Given the description of an element on the screen output the (x, y) to click on. 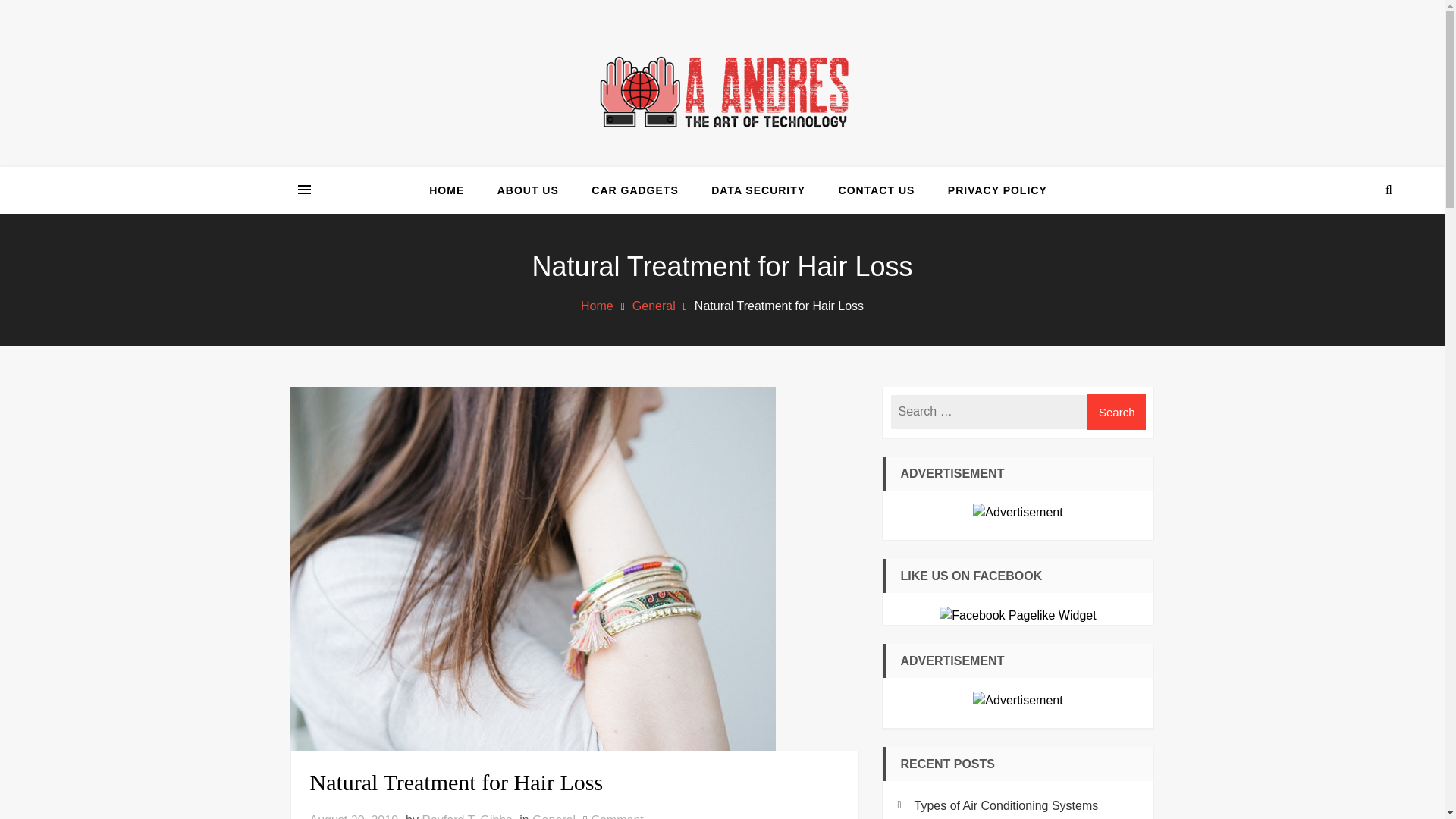
General (553, 816)
PRIVACY POLICY (996, 189)
Home (596, 305)
Rayford T. Gibbs (467, 816)
DATA SECURITY (758, 189)
Search (1346, 247)
August 20, 2019 (352, 816)
Natural Treatment for Hair Loss (573, 781)
CAR GADGETS (617, 816)
